Given the description of an element on the screen output the (x, y) to click on. 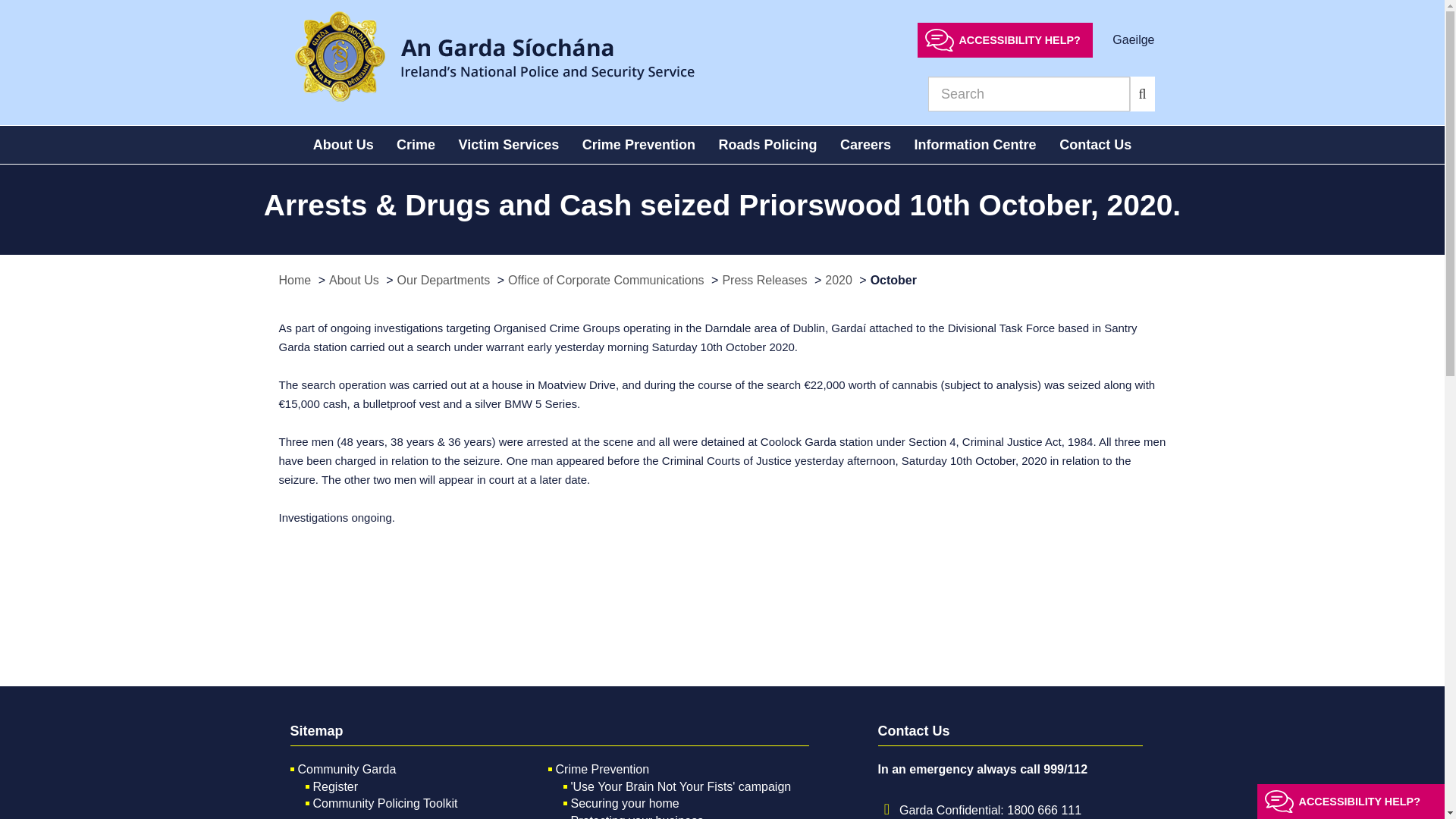
ACCESSIBILITY HELP? (1005, 39)
About Us (343, 144)
Crime (415, 144)
Gaeilge (1133, 39)
